Given the description of an element on the screen output the (x, y) to click on. 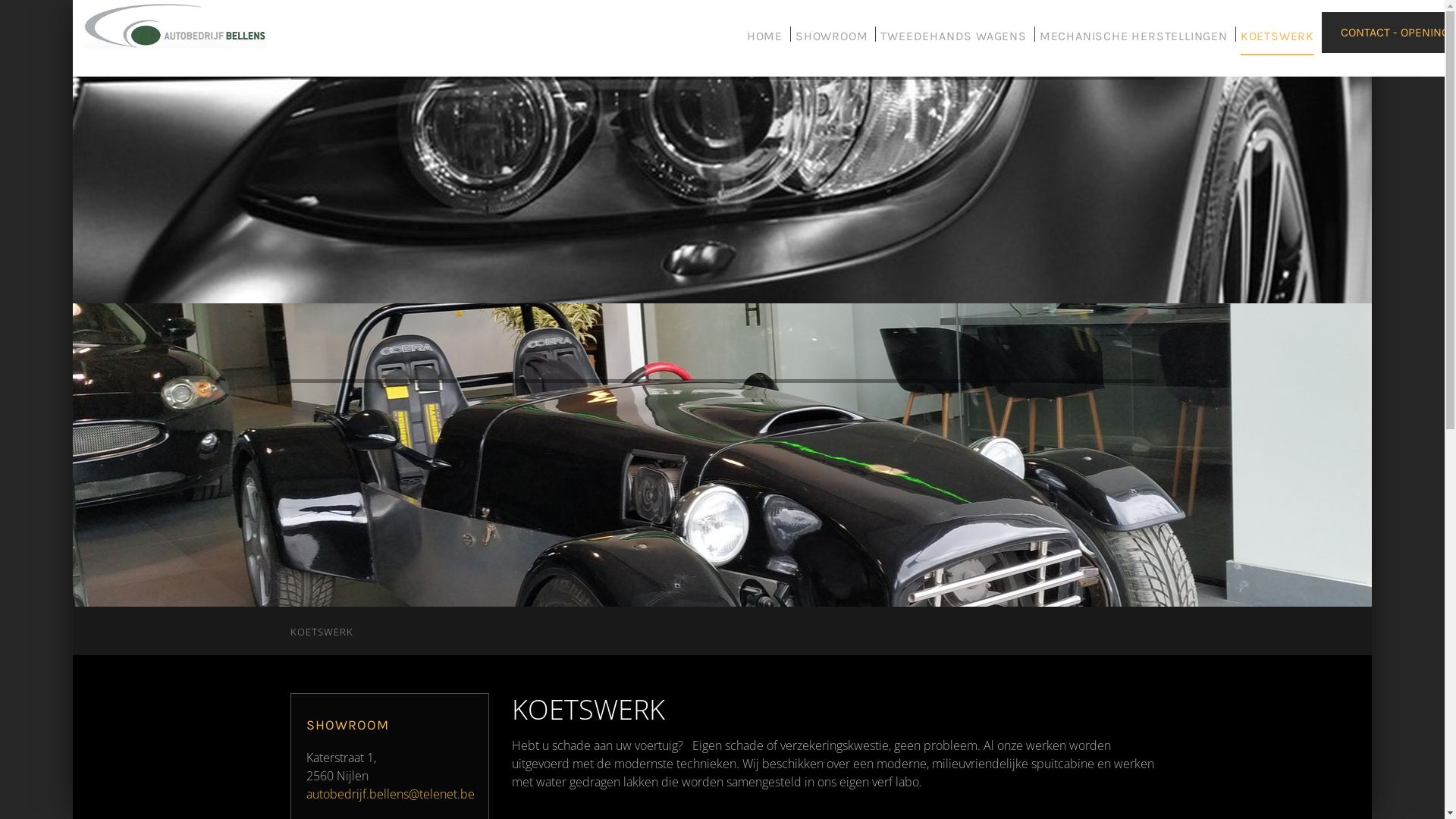
HOME Element type: text (764, 41)
KOETSWERK Element type: text (320, 631)
MECHANISCHE HERSTELLINGEN Element type: text (1133, 41)
SHOWROOM Element type: text (831, 41)
autobedrijf.bellens@telenet.be Element type: text (390, 793)
TWEEDEHANDS WAGENS Element type: text (953, 41)
KOETSWERK Element type: text (1277, 41)
